Given the description of an element on the screen output the (x, y) to click on. 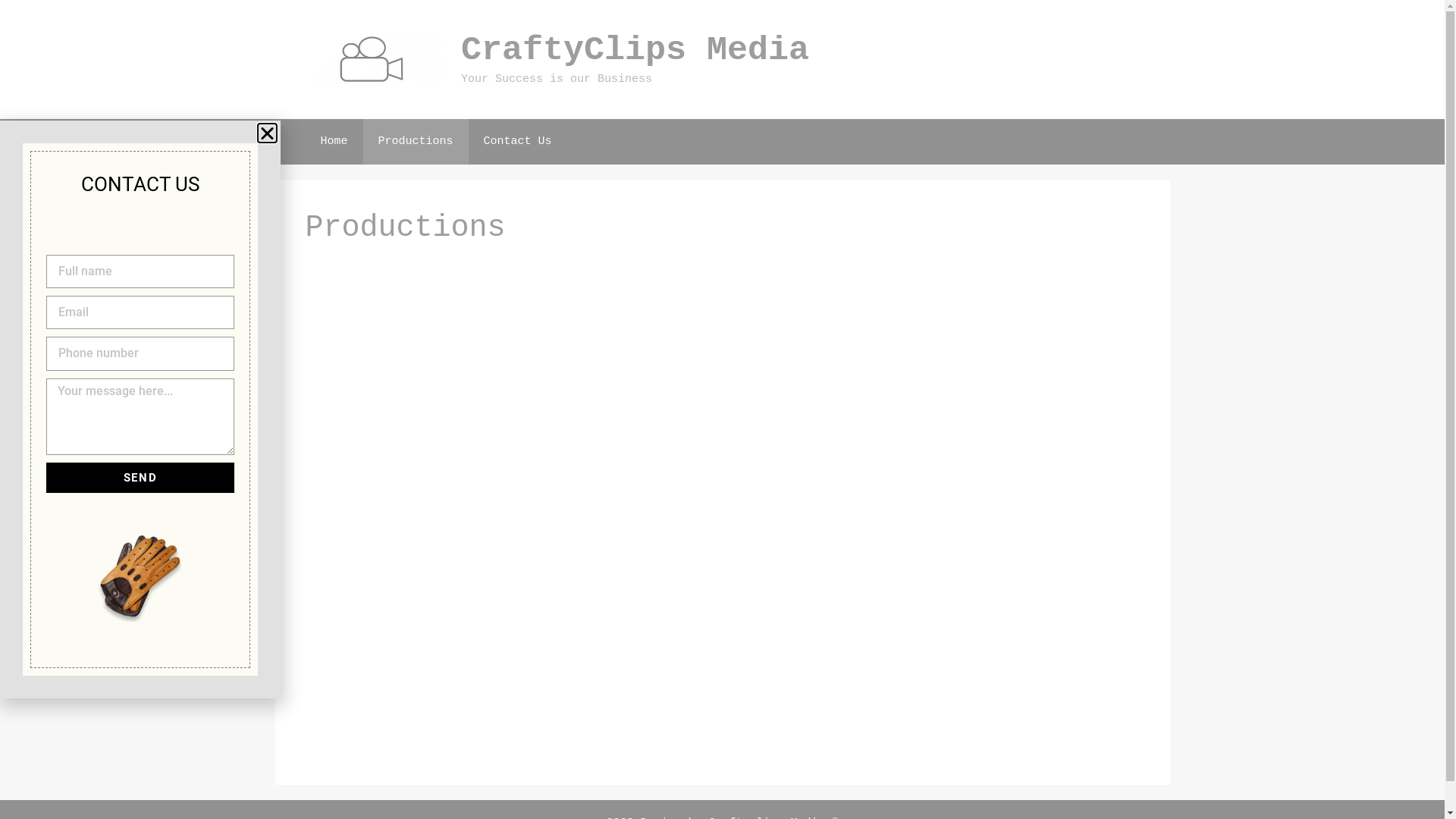
SEND Element type: text (140, 477)
Productions Element type: text (415, 140)
Home Element type: text (333, 140)
Contact Us Element type: text (517, 140)
CraftyClips Media Element type: text (635, 50)
